Given the description of an element on the screen output the (x, y) to click on. 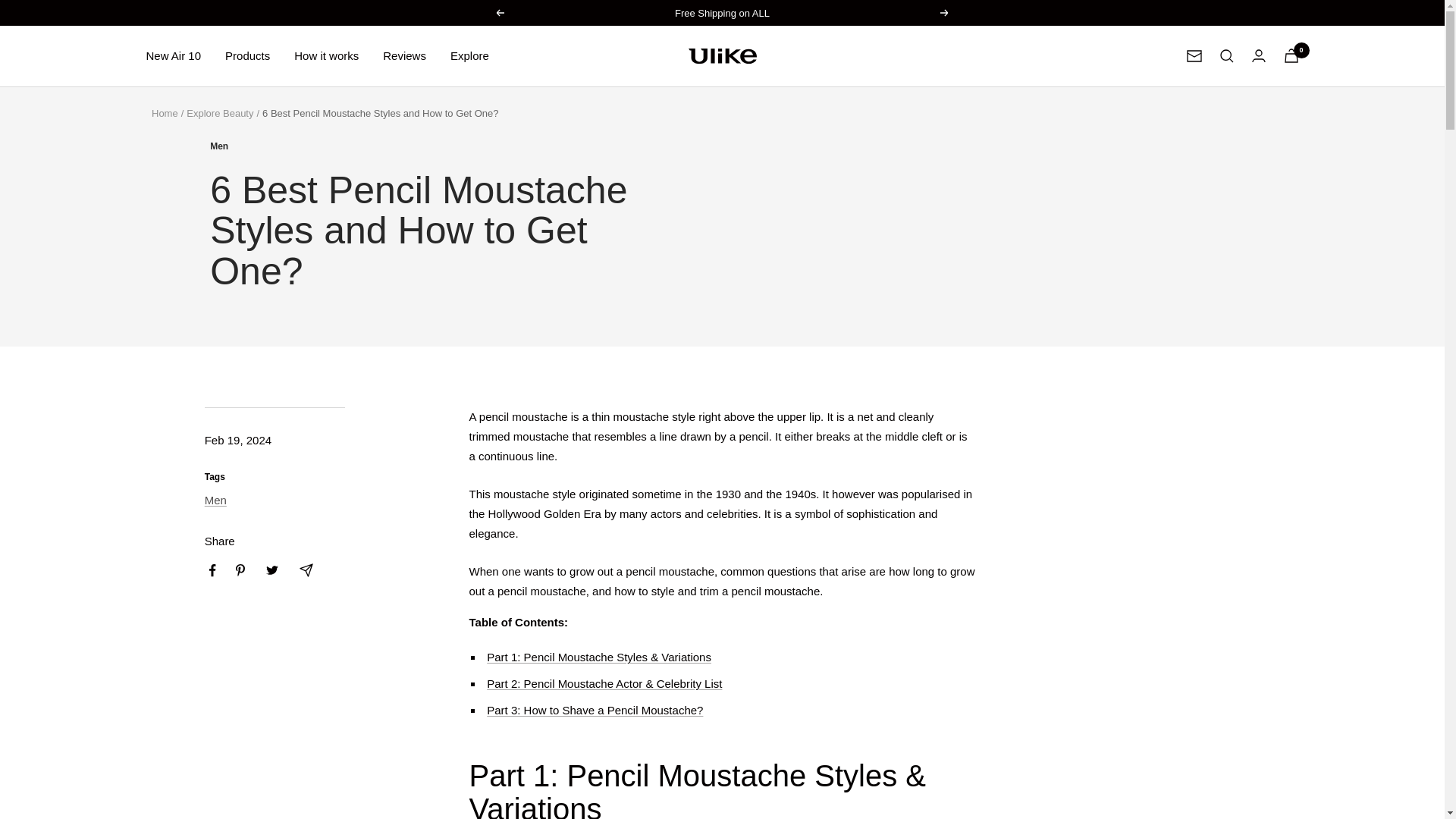
Home (164, 112)
Ulike UK Shop (722, 55)
Men (438, 146)
0 (1290, 55)
How it works (326, 55)
Products (247, 55)
Newsletter (1193, 55)
Reviews (404, 55)
Men (216, 499)
Previous (499, 12)
